Given the description of an element on the screen output the (x, y) to click on. 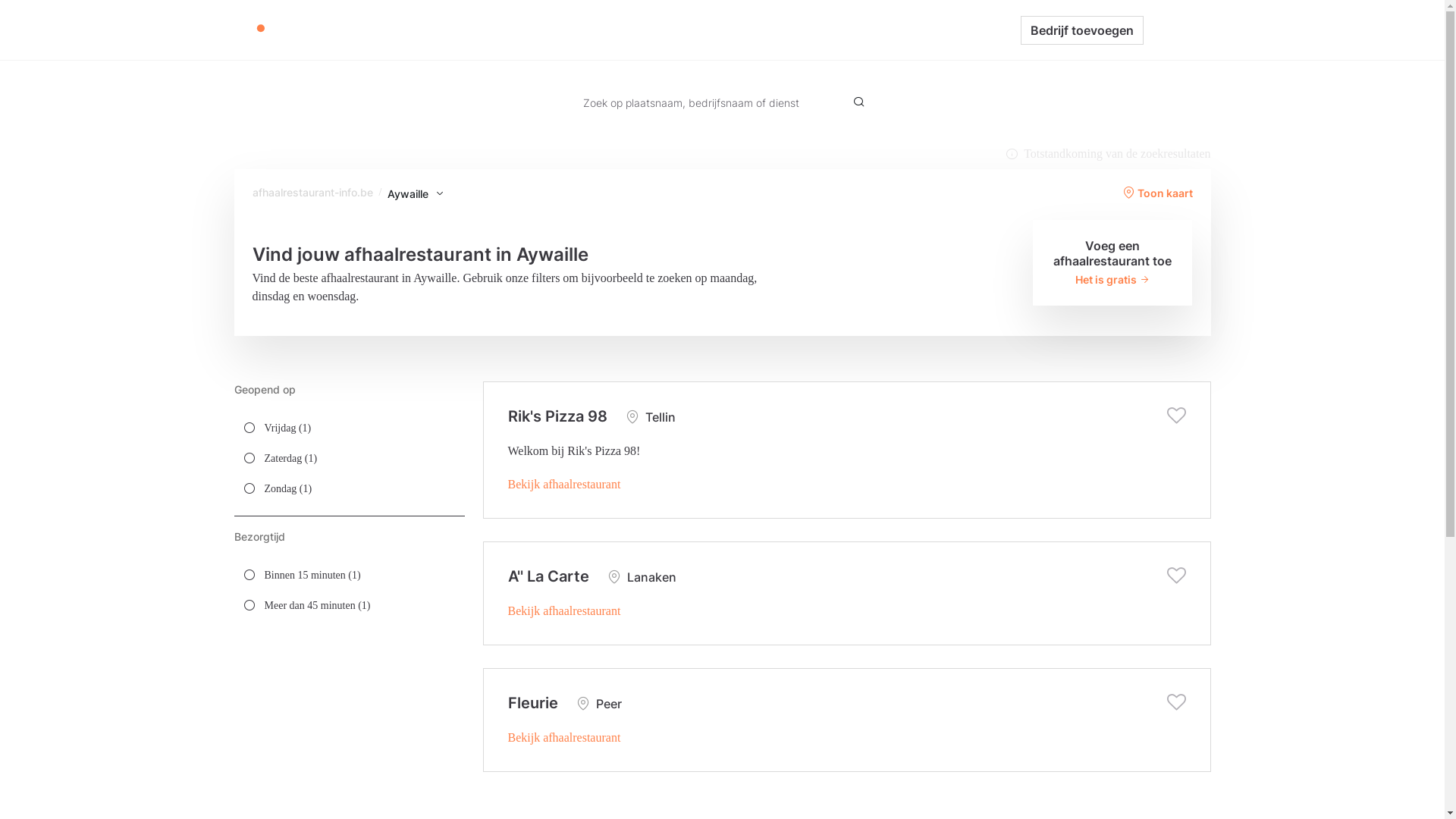
Bekijk afhaalrestaurant Element type: text (564, 483)
Rik's Pizza 98 Element type: text (557, 416)
Binnen 15 minuten (1) Element type: text (348, 574)
Het is gratis Element type: text (1112, 279)
Zondag (1) Element type: text (348, 488)
Totstandkoming van de zoekresultaten Element type: text (1107, 153)
afhaalrestaurant-info.be Element type: text (311, 191)
Bekijk afhaalrestaurant Element type: text (564, 737)
Welkom bij Rik's Pizza 98! Element type: text (574, 450)
Inloggen Element type: text (1177, 29)
A'' La Carte Element type: text (548, 576)
Vrijdag (1) Element type: text (348, 427)
Toon kaart Element type: text (1157, 192)
Fleurie Element type: text (533, 702)
Zaterdag (1) Element type: text (348, 457)
Bedrijf toevoegen Element type: text (1081, 29)
Aywaille Element type: text (416, 193)
Afhaalrestaurant zoeken Element type: text (712, 29)
Meer dan 45 minuten (1) Element type: text (348, 604)
Bekijk afhaalrestaurant Element type: text (564, 610)
